Given the description of an element on the screen output the (x, y) to click on. 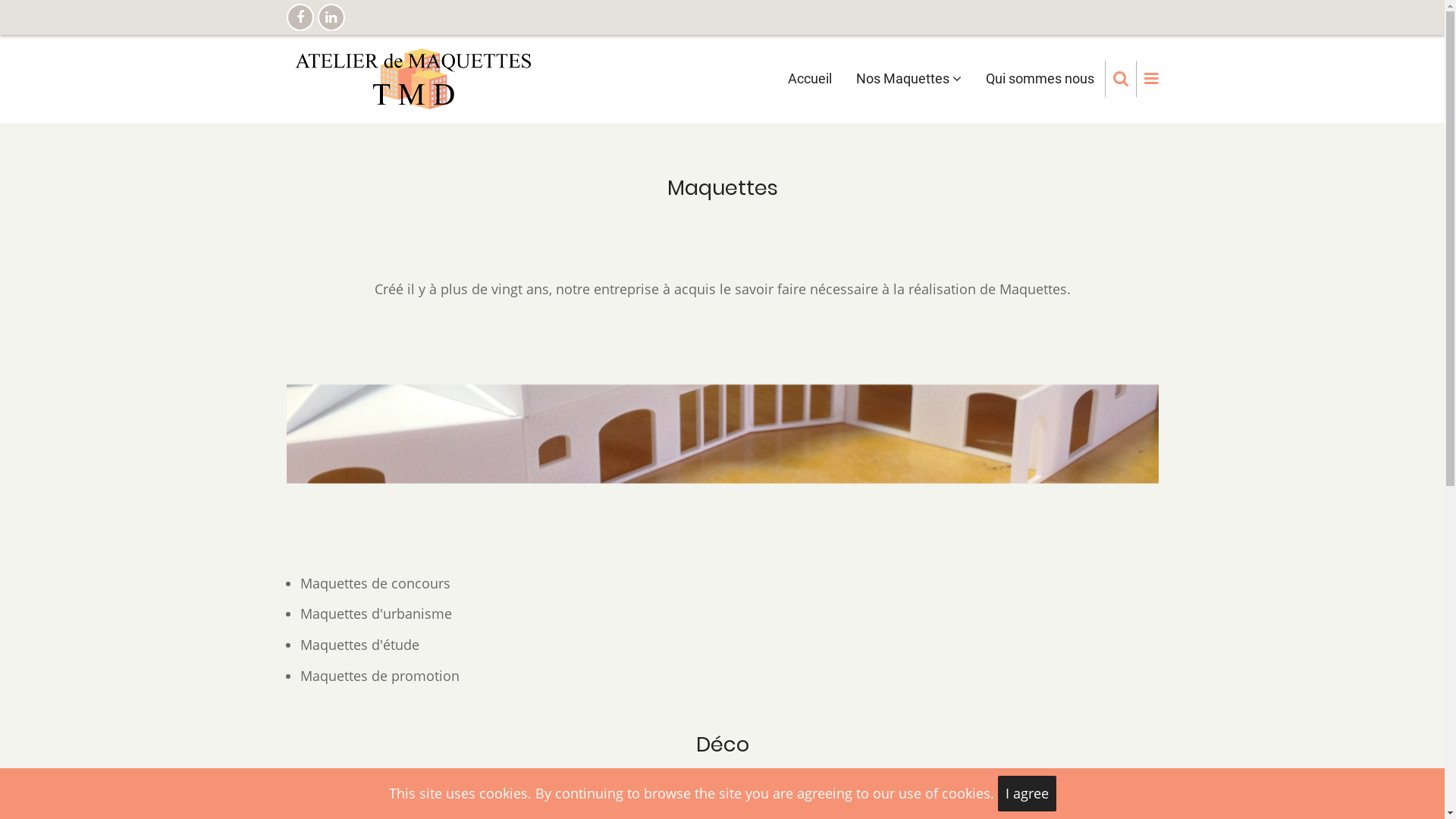
1216 Cointrin, Suisse Element type: text (942, 704)
I agree Element type: text (1026, 793)
Aller au contenu principal Element type: text (0, 0)
Accueil Element type: hover (413, 77)
Nos Maquettes Element type: text (907, 78)
Qui sommes nous Element type: text (1039, 78)
Accueil Element type: text (808, 78)
tmaquette@bluewin.ch Element type: text (398, 633)
